Given the description of an element on the screen output the (x, y) to click on. 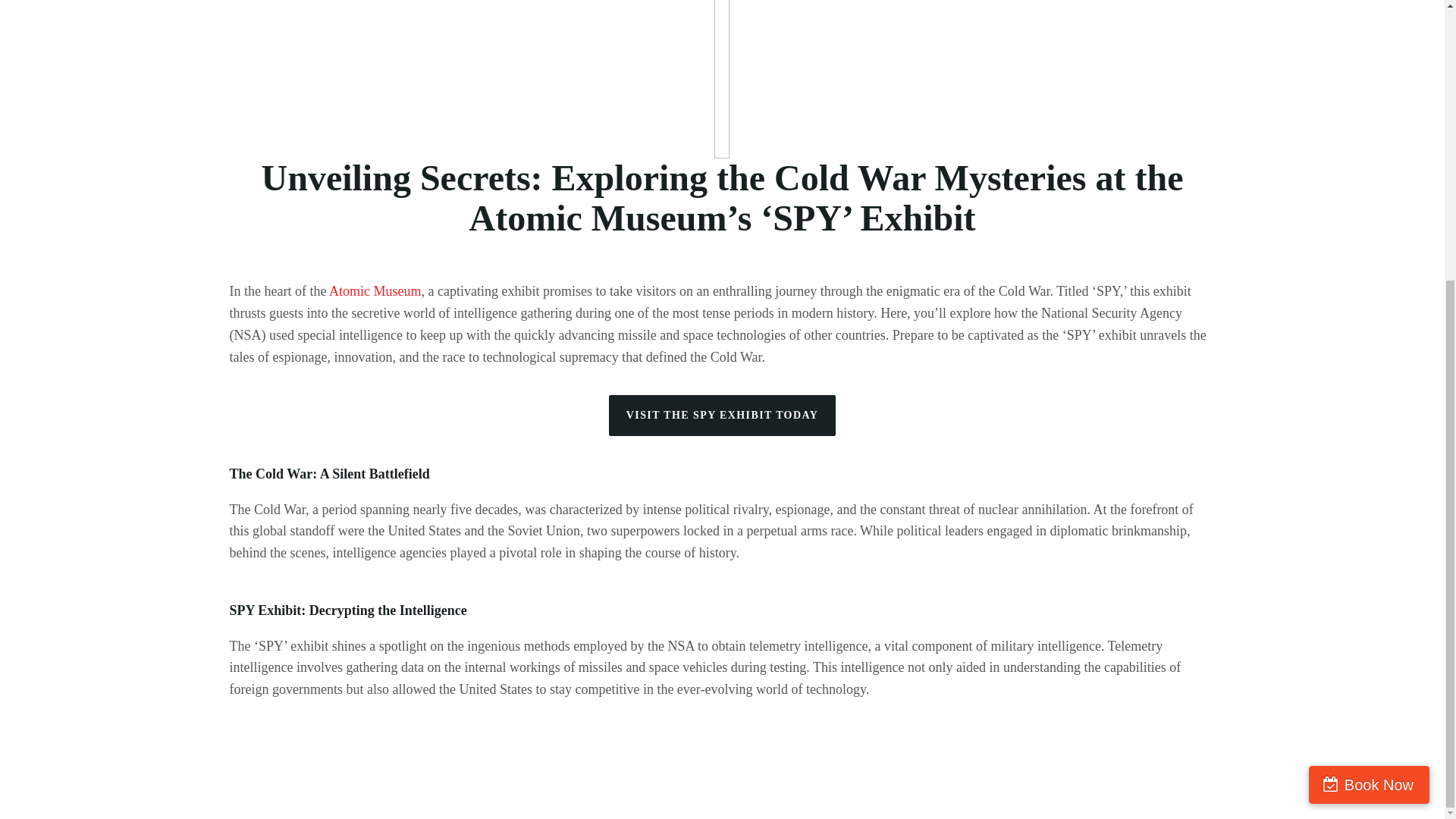
Atomic Museum (375, 290)
Atomic Spy Exhibit (722, 79)
VISIT THE SPY EXHIBIT TODAY (721, 414)
